Given the description of an element on the screen output the (x, y) to click on. 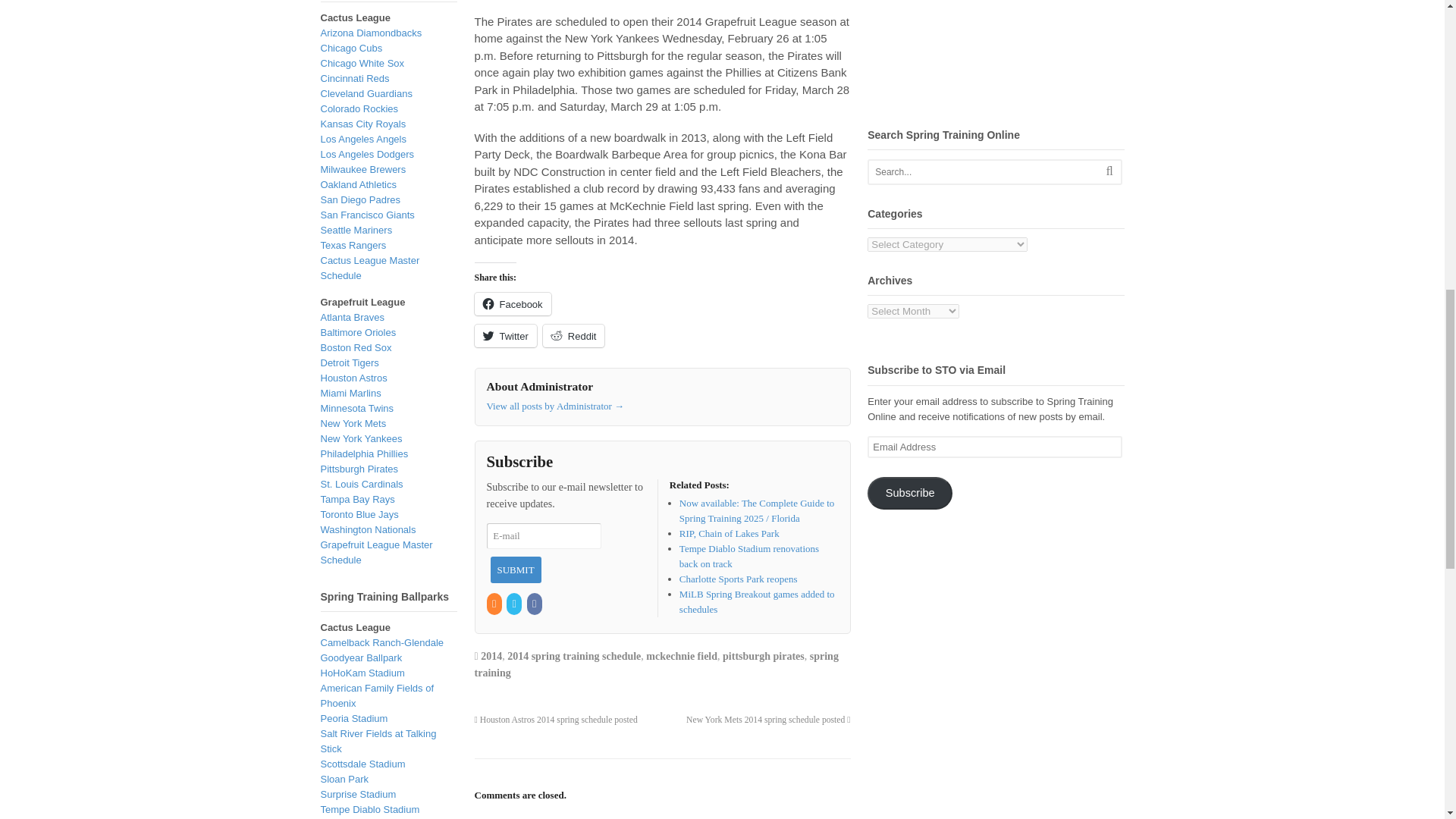
spring training (656, 664)
2014 (491, 655)
Facebook (512, 303)
Click to share on Facebook (512, 303)
Tempe Diablo Stadium renovations back on track (748, 555)
RSS (494, 603)
pittsburgh pirates (763, 655)
Click to share on Twitter (505, 335)
E-mail (543, 535)
Tempe Diablo Stadium renovations back on track (748, 555)
